Given the description of an element on the screen output the (x, y) to click on. 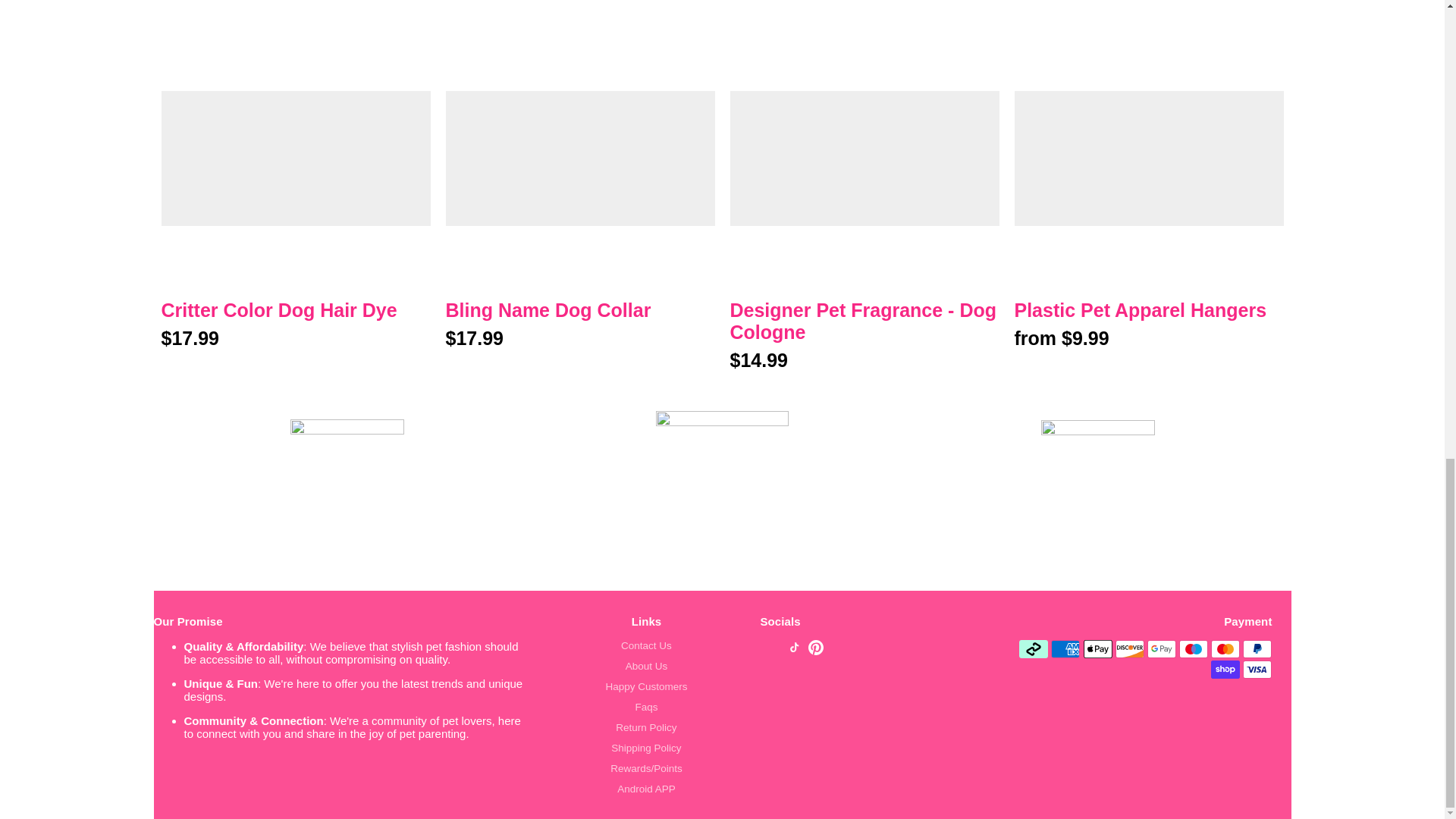
Apple Pay (1097, 648)
American Express (1065, 648)
Maestro (1193, 648)
Google Pay (1161, 648)
Visa (1257, 669)
PayPal (1257, 648)
Discover (1129, 648)
Shop Pay (1225, 669)
Afterpay (1033, 648)
Mastercard (1225, 648)
